Given the description of an element on the screen output the (x, y) to click on. 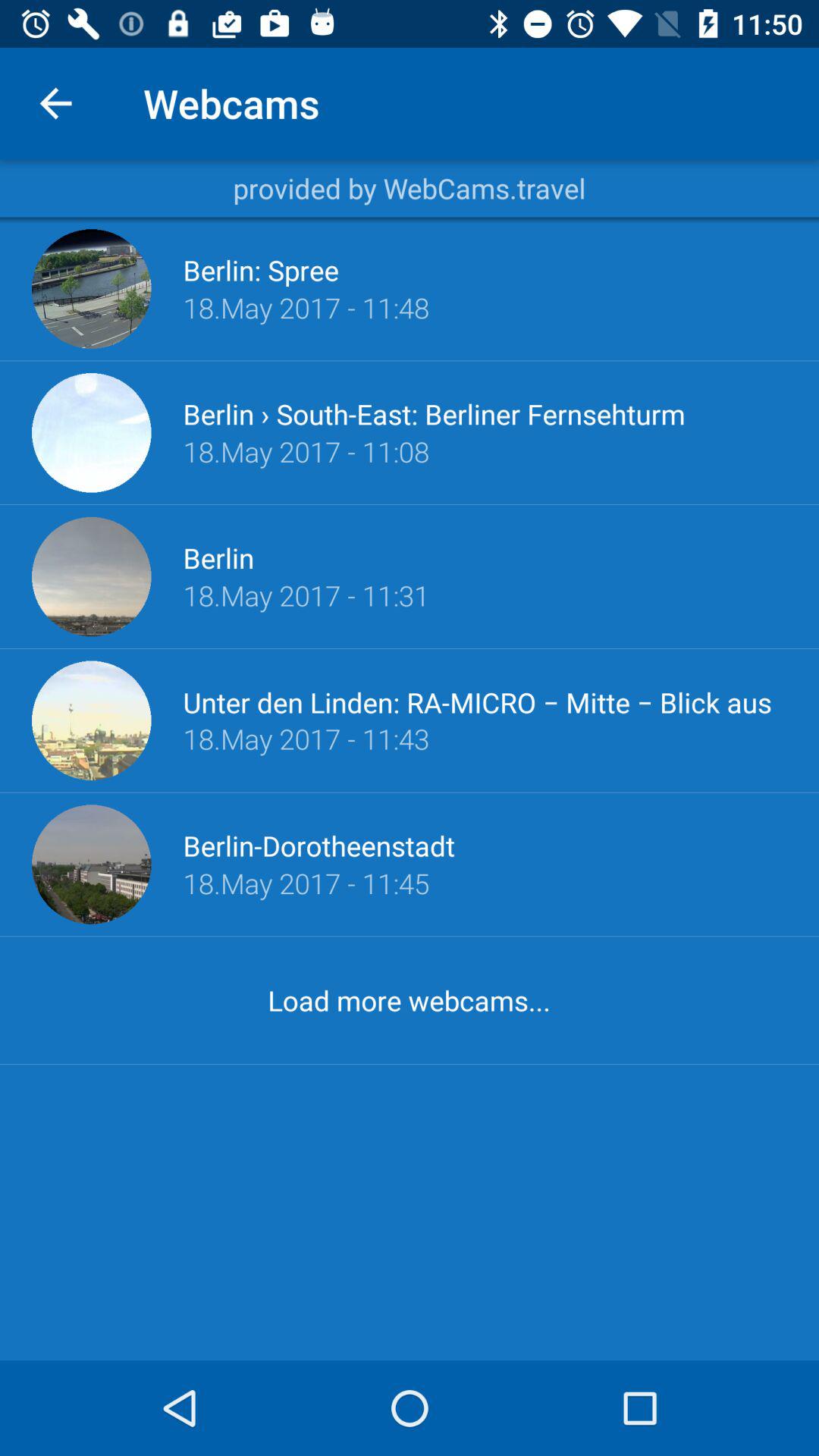
tap the item above 18 may 2017 (485, 701)
